Given the description of an element on the screen output the (x, y) to click on. 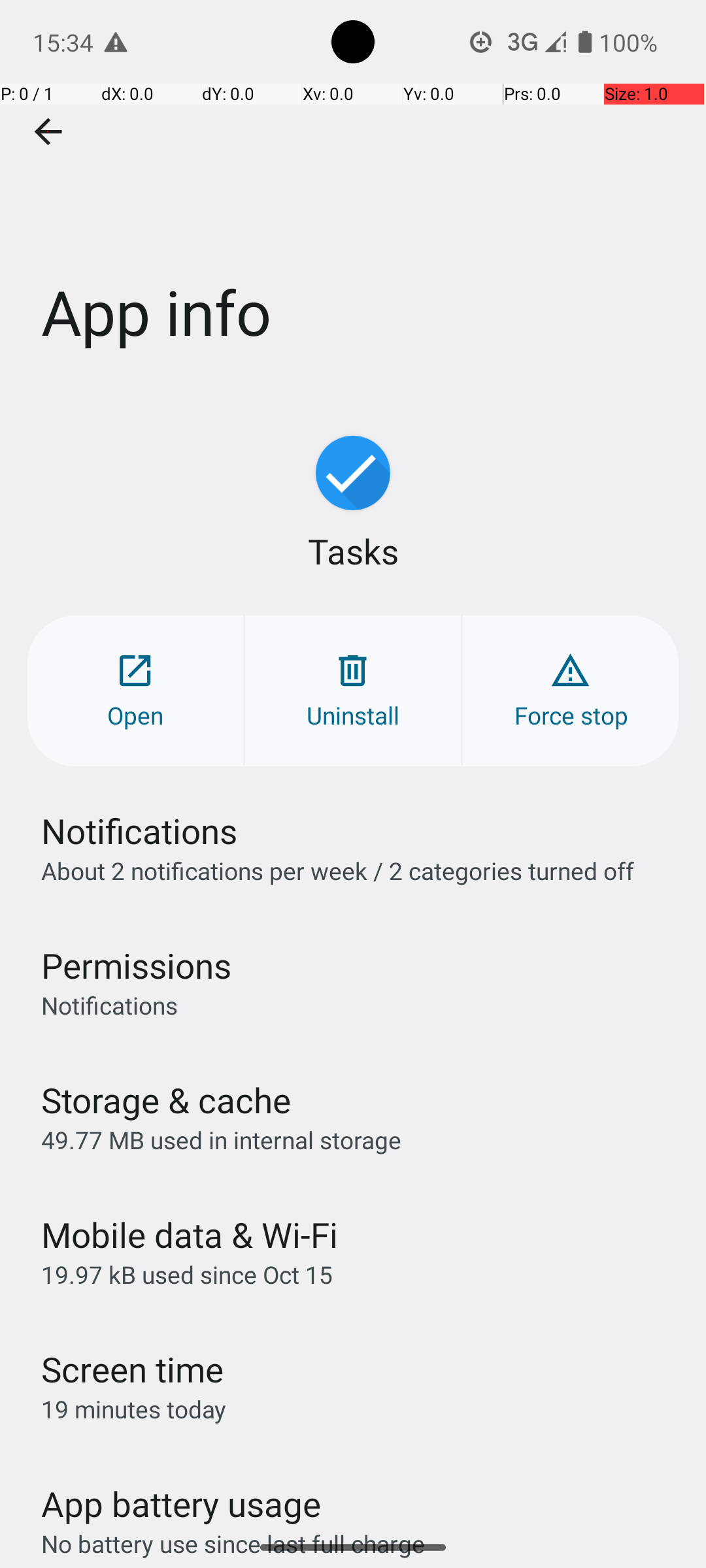
Open Element type: android.widget.Button (135, 690)
Uninstall Element type: android.widget.Button (352, 690)
Force stop Element type: android.widget.Button (570, 690)
About 2 notifications per week / 2 categories turned off Element type: android.widget.TextView (337, 870)
Permissions Element type: android.widget.TextView (136, 965)
Storage & cache Element type: android.widget.TextView (166, 1099)
49.77 MB used in internal storage Element type: android.widget.TextView (221, 1139)
Mobile data & Wi‑Fi Element type: android.widget.TextView (189, 1234)
19.97 kB used since Oct 15 Element type: android.widget.TextView (186, 1273)
19 minutes today Element type: android.widget.TextView (133, 1408)
App battery usage Element type: android.widget.TextView (181, 1503)
